Given the description of an element on the screen output the (x, y) to click on. 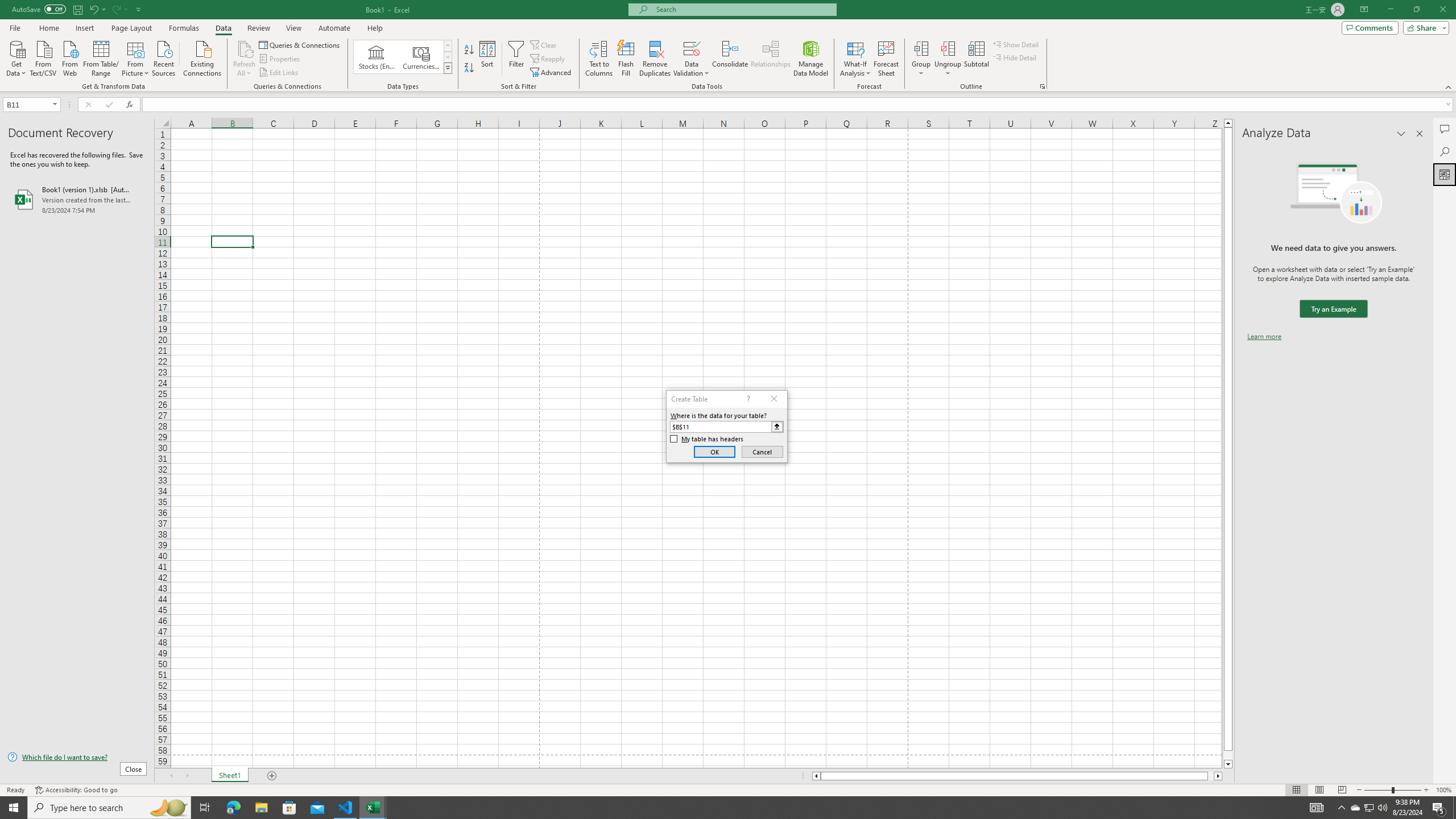
Recent Sources (163, 57)
Filter (515, 58)
From Text/CSV (43, 57)
Remove Duplicates (654, 58)
We need data to give you answers. Try an Example (1333, 308)
Stocks (English) (375, 56)
